Given the description of an element on the screen output the (x, y) to click on. 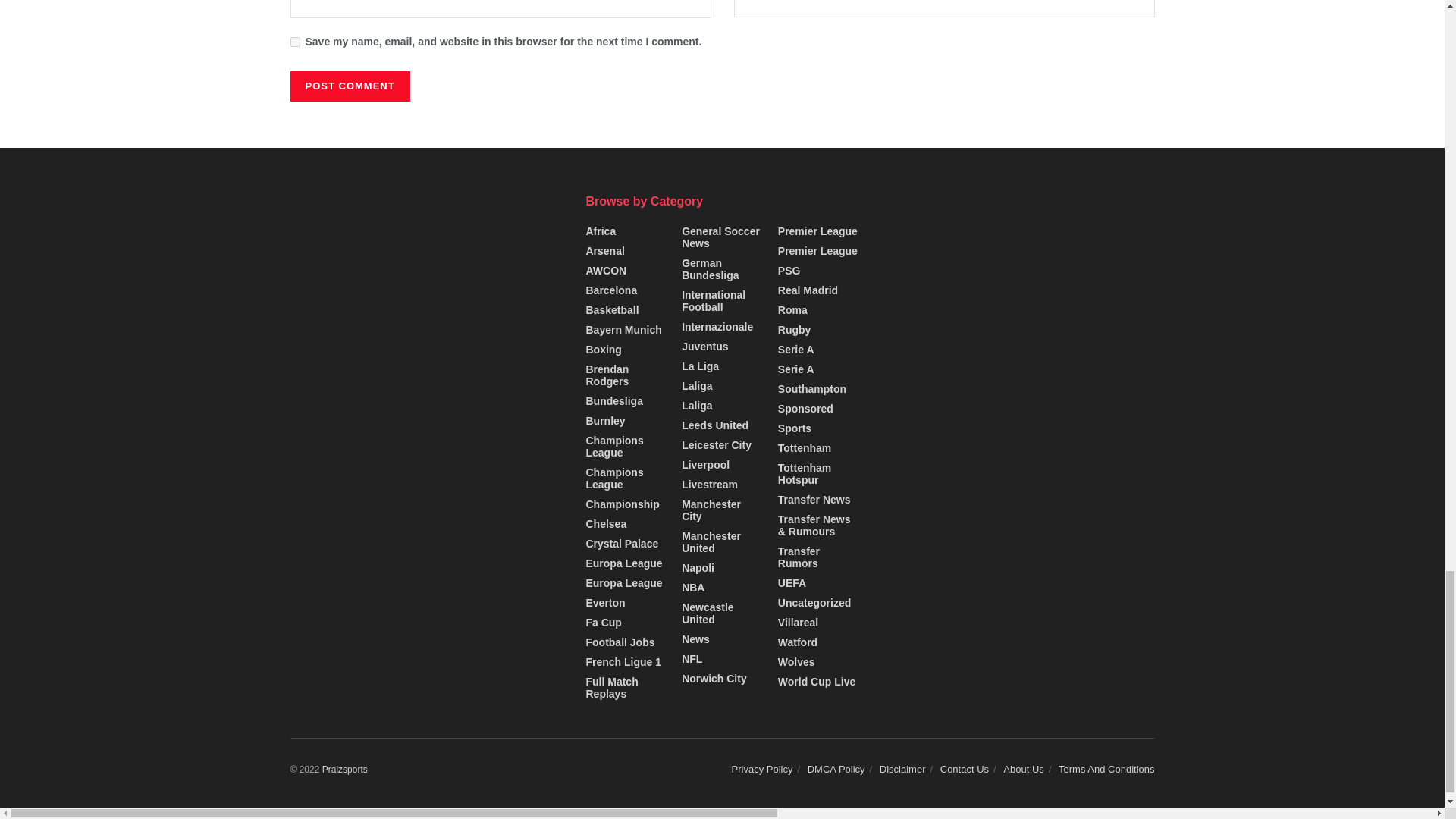
Post Comment (349, 86)
yes (294, 41)
